Given the description of an element on the screen output the (x, y) to click on. 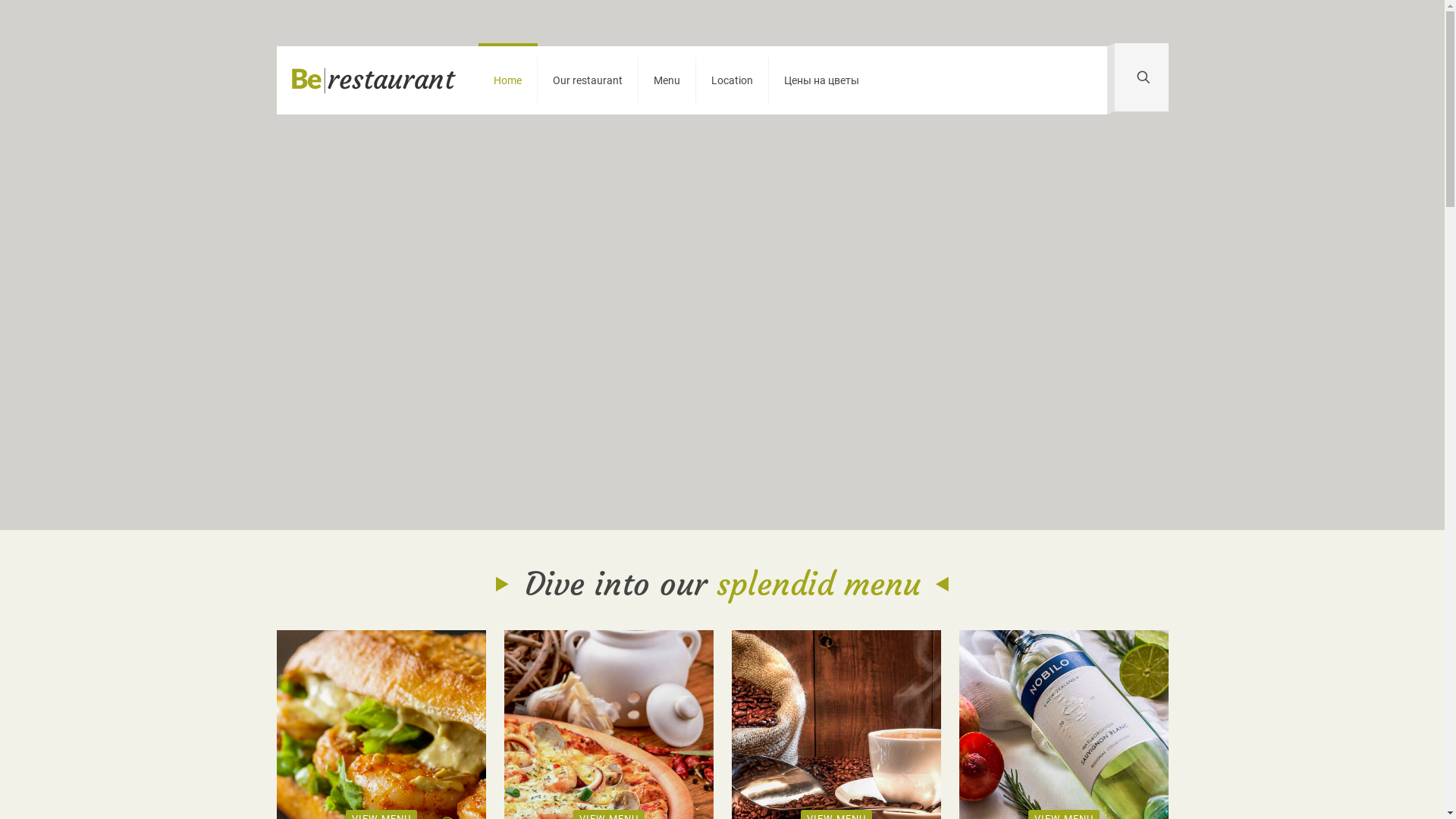
Our restaurant Element type: text (586, 80)
Menu Element type: text (667, 80)
Home Element type: text (506, 80)
Location Element type: text (732, 80)
